Given the description of an element on the screen output the (x, y) to click on. 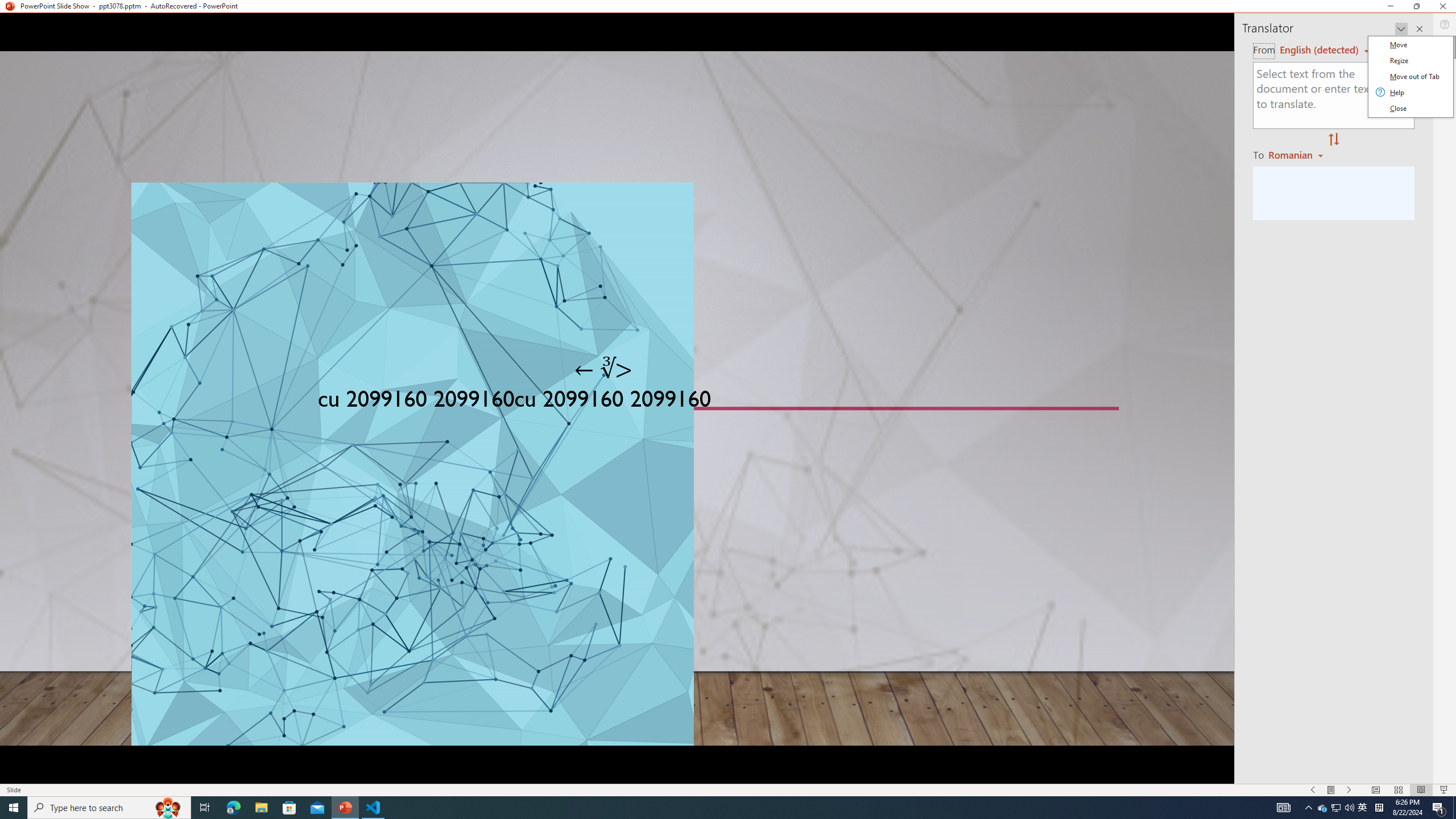
Class: Net UI Tool Window (1410, 76)
Czech (detected) (1319, 50)
